Given the description of an element on the screen output the (x, y) to click on. 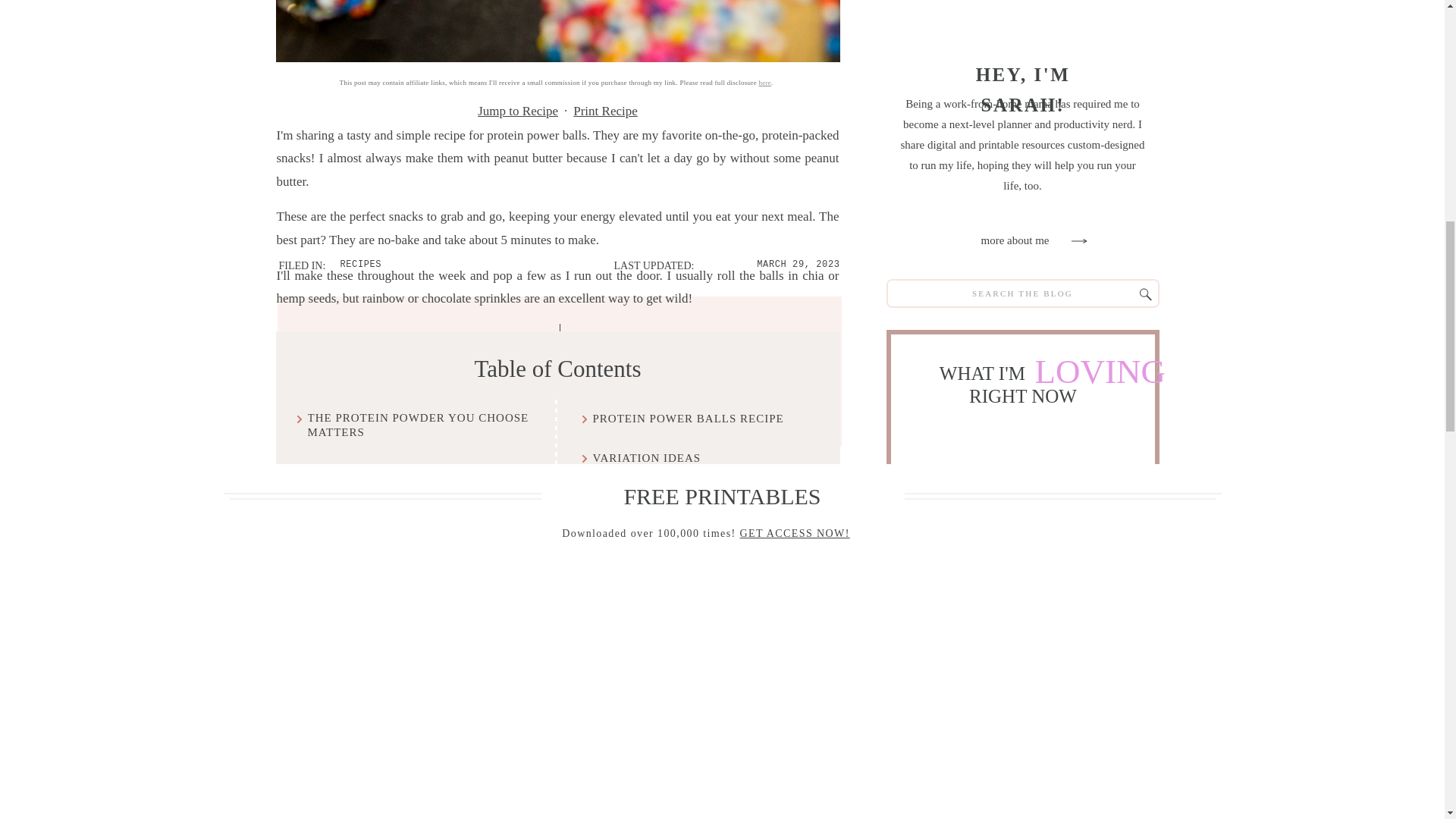
ochid iPad case with pencil holder (965, 540)
POP Keys Mechanical Wireless Keyboard (965, 685)
HOW TO STORE YOUR BALLS (394, 523)
VARIATION IDEAS (646, 458)
THE NUT BUTTER TEXTURE MATTERS TOO (421, 478)
THE PROTEIN POWDER YOU CHOOSE MATTERS (421, 425)
magnetic rotating  iPad stand (1080, 689)
RIGHT NOW (1022, 393)
more about me (1013, 241)
WHAT I'M  (984, 371)
